Given the description of an element on the screen output the (x, y) to click on. 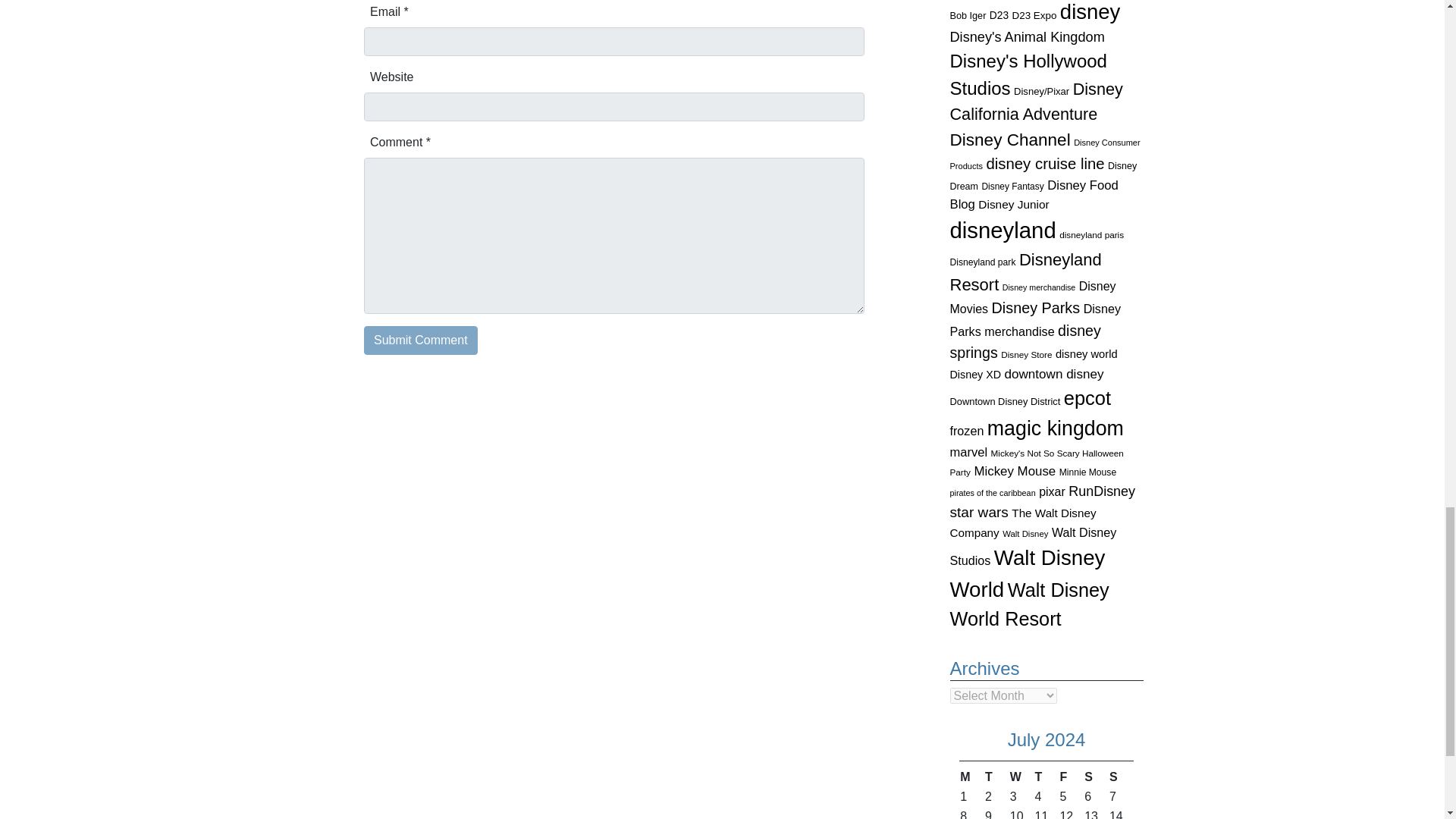
Monday (971, 777)
disney (1090, 11)
Disney's Hollywood Studios (1027, 74)
Disney California Adventure (1035, 101)
D23 (999, 15)
Tuesday (996, 777)
Thursday (1046, 777)
Disney Channel (1009, 139)
Disney's Animal Kingdom (1026, 37)
Saturday (1095, 777)
Wednesday (1021, 777)
Submit Comment (420, 339)
D23 Expo (1034, 15)
Friday (1070, 777)
Bob Iger (967, 15)
